Given the description of an element on the screen output the (x, y) to click on. 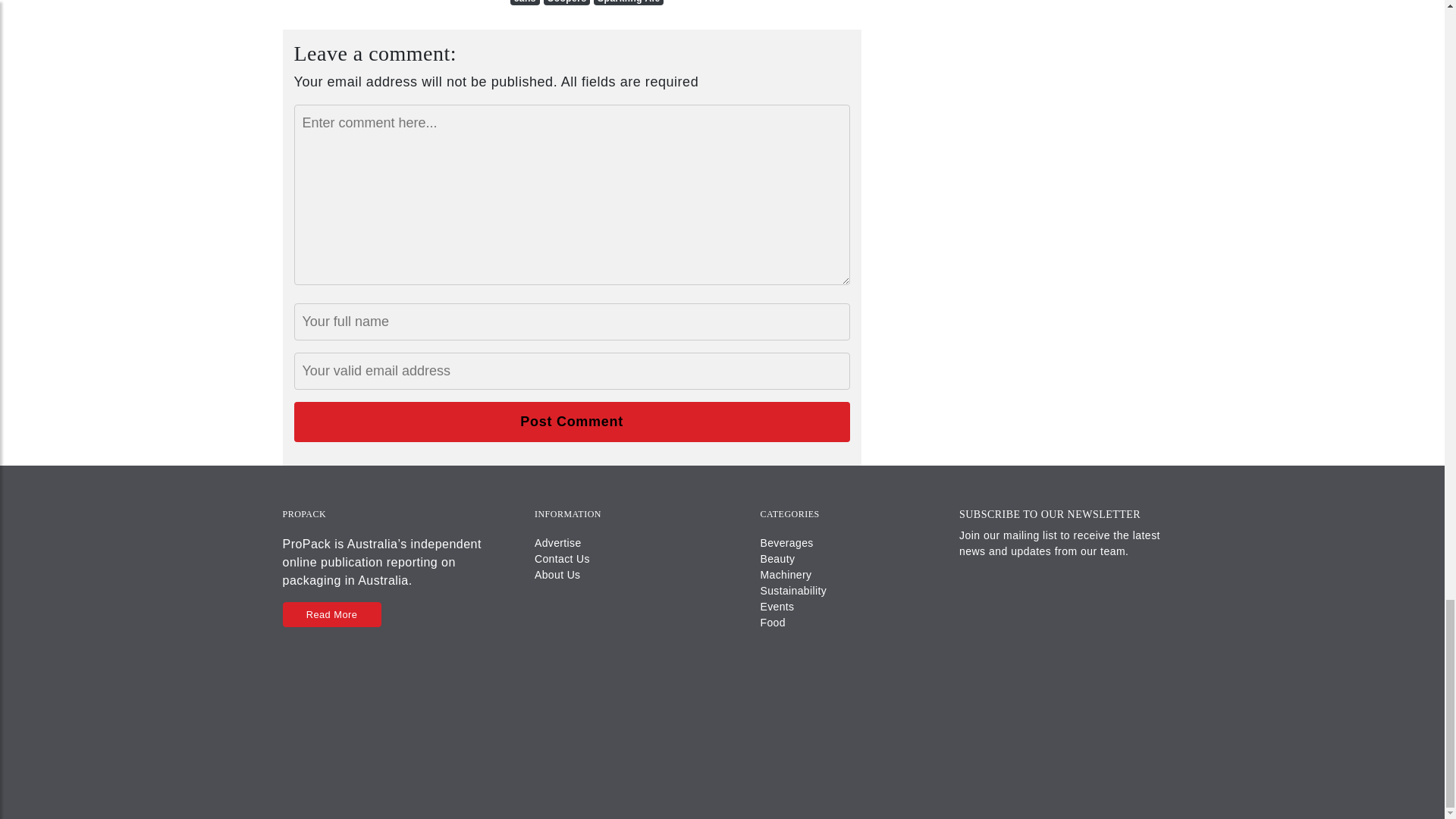
Post Comment (572, 422)
Read More (331, 614)
Sparkling Ale (628, 2)
Coopers (567, 2)
cans (525, 2)
Post Comment (572, 422)
Advertise (557, 542)
